Given the description of an element on the screen output the (x, y) to click on. 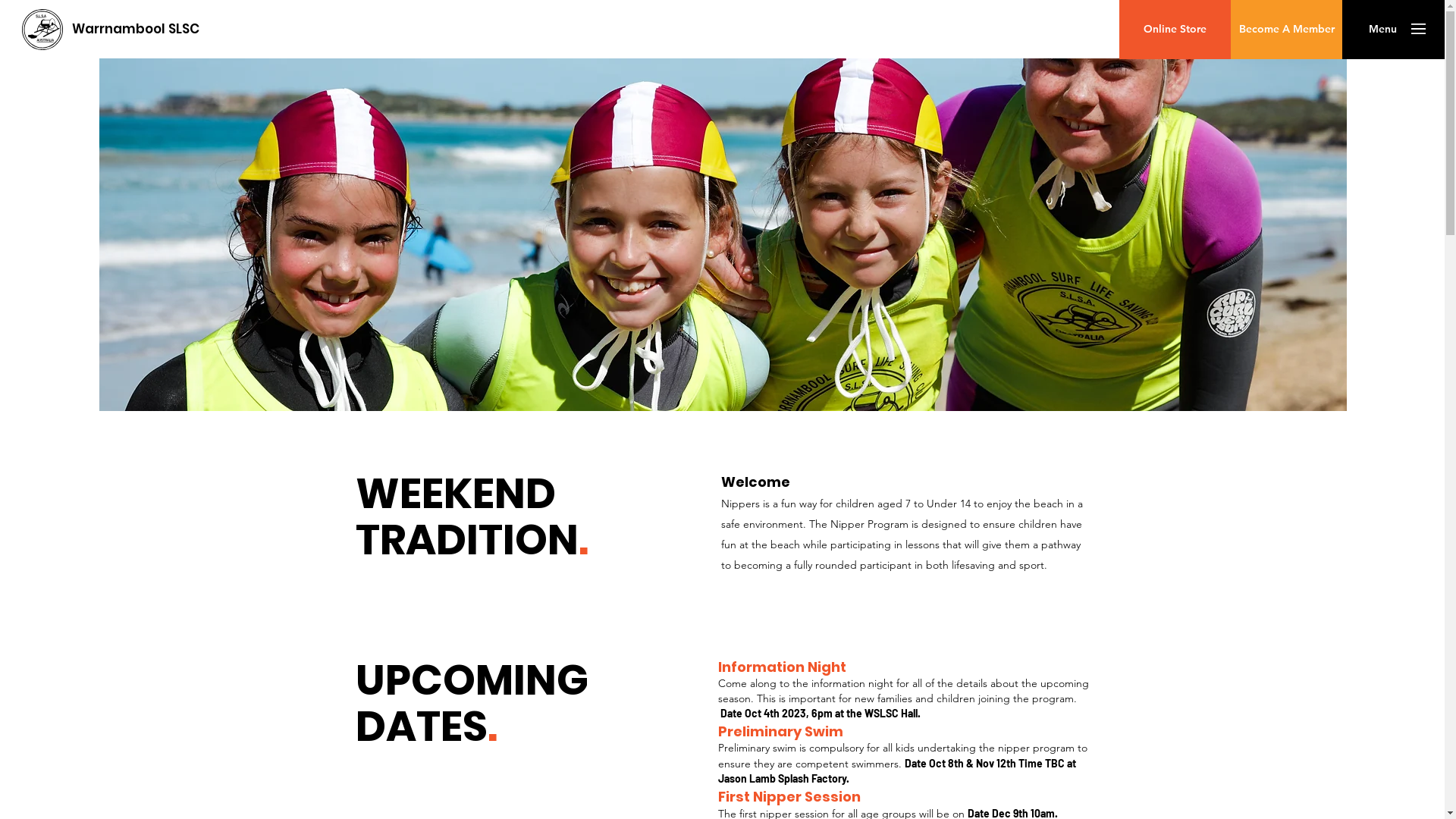
Menu Element type: text (1382, 29)
Become A Member Element type: text (1286, 29)
Warrnambool SLSC Element type: text (134, 29)
Online Store Element type: text (1174, 29)
